Given the description of an element on the screen output the (x, y) to click on. 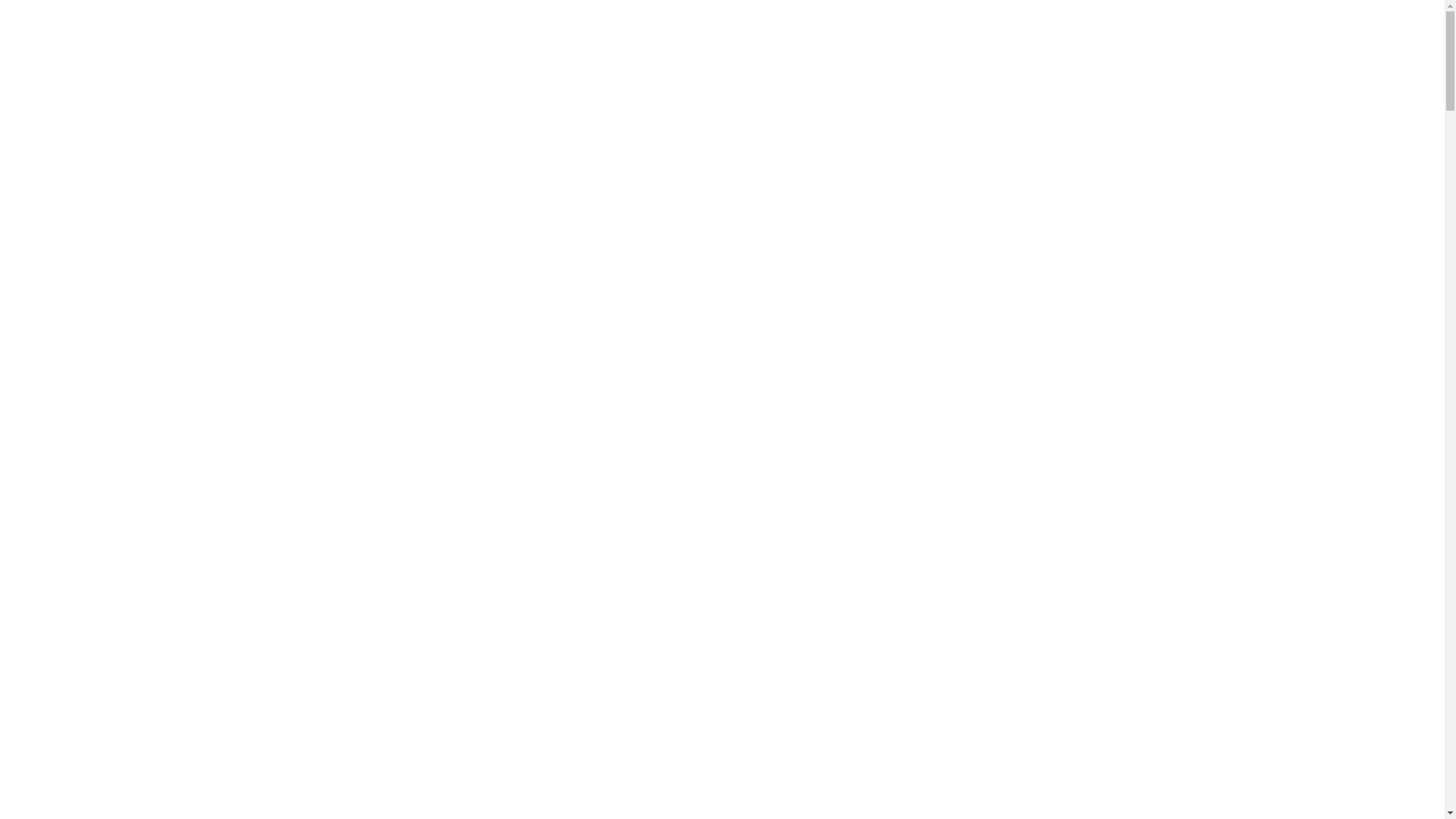
Go Element type: text (1386, 40)
